Given the description of an element on the screen output the (x, y) to click on. 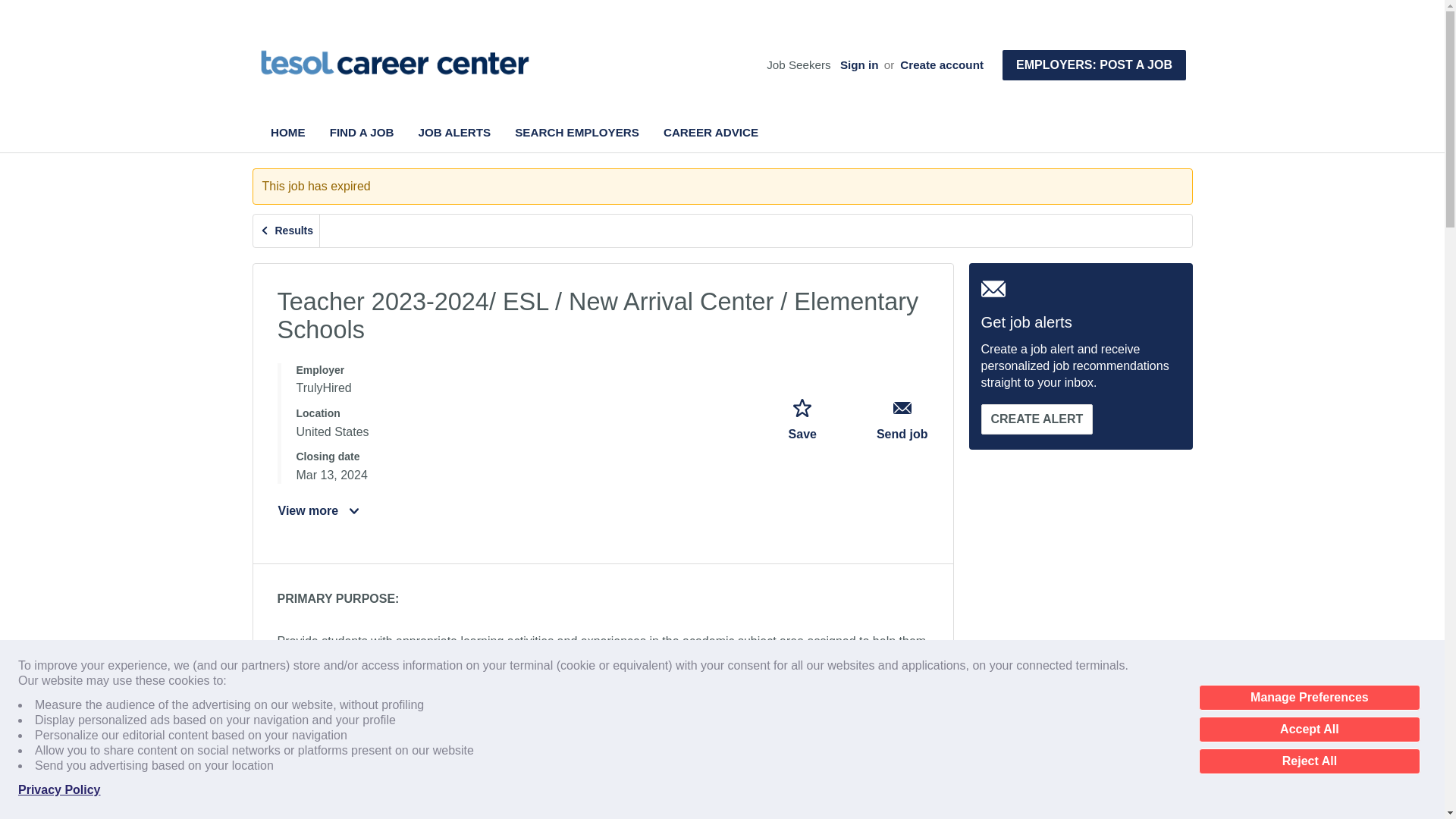
SEARCH EMPLOYERS (577, 132)
HOME (287, 132)
Privacy Policy (58, 789)
Reject All (1309, 760)
Sign in (859, 64)
Results (286, 230)
EMPLOYERS: POST A JOB (1094, 64)
TESOL Career Center (395, 62)
FIND A JOB (362, 132)
View more (319, 511)
Accept All (1309, 729)
Create account (941, 64)
CREATE ALERT (1037, 419)
JOB ALERTS (455, 132)
CAREER ADVICE (710, 132)
